Given the description of an element on the screen output the (x, y) to click on. 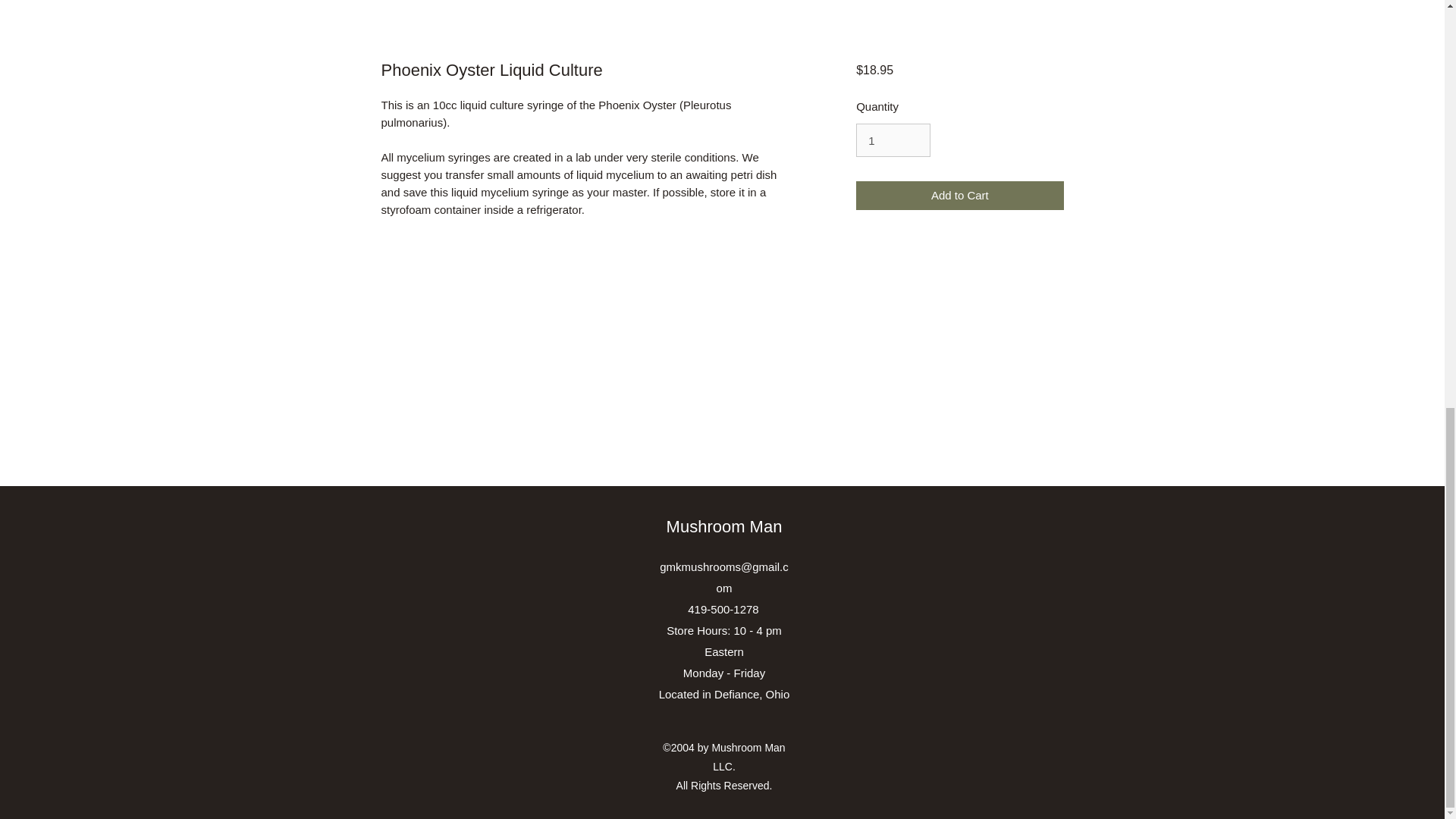
Mushroom Man (724, 526)
Add to Cart (959, 195)
1 (893, 140)
